Given the description of an element on the screen output the (x, y) to click on. 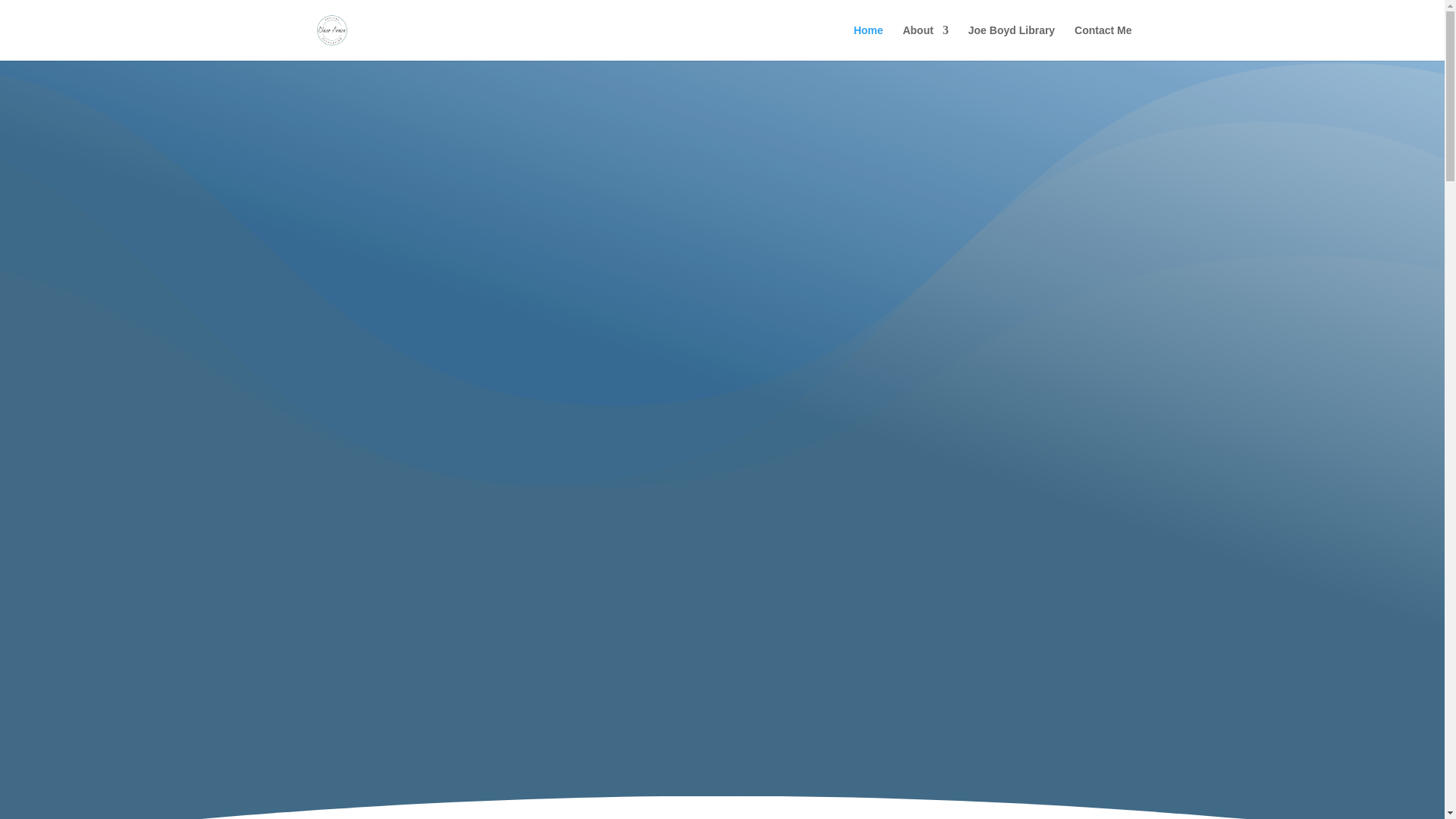
Contact Me (1102, 42)
About (924, 42)
Joe Boyd Library (1011, 42)
